Given the description of an element on the screen output the (x, y) to click on. 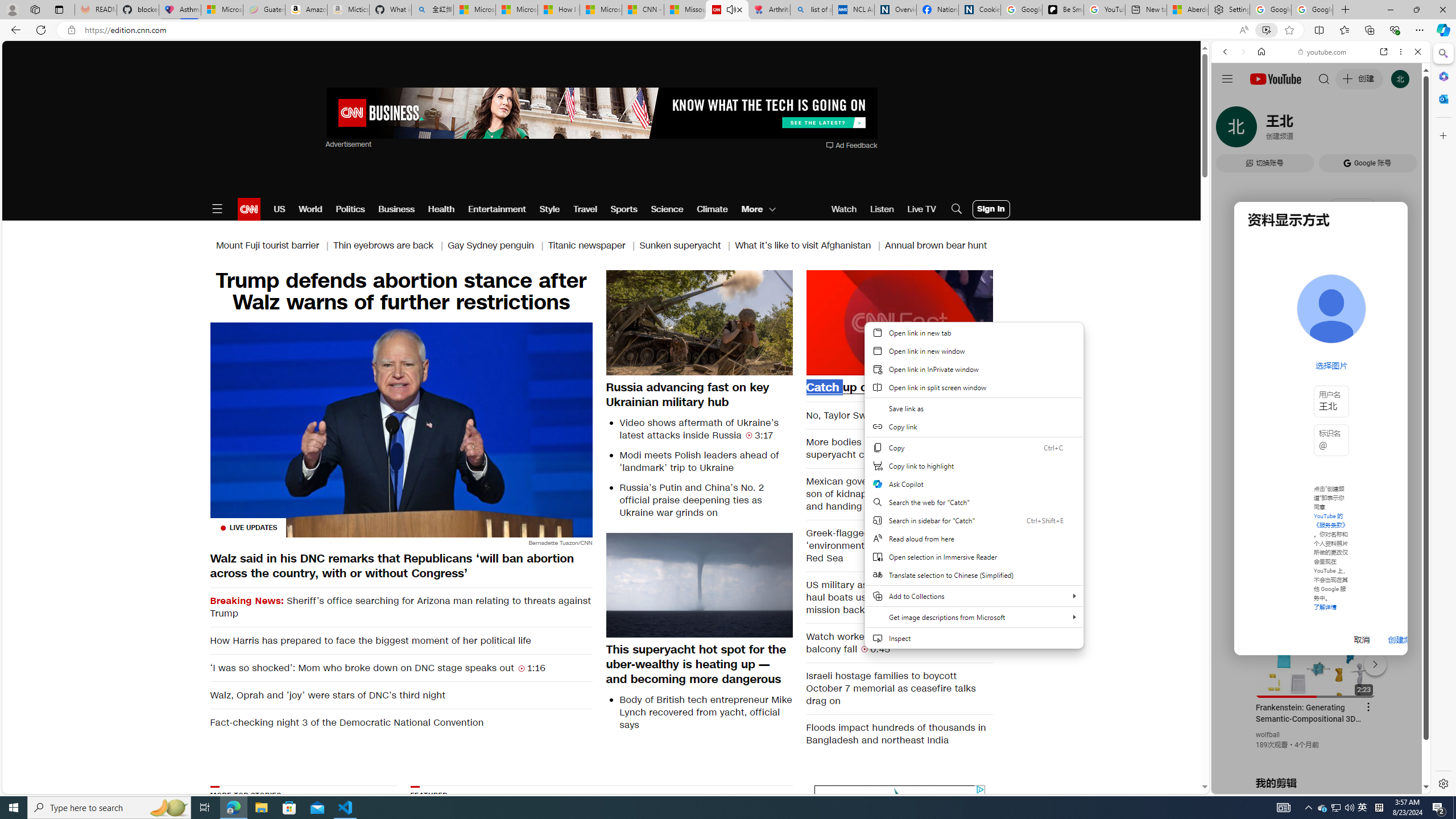
Show More Music (1390, 310)
Climate (712, 209)
